Given the description of an element on the screen output the (x, y) to click on. 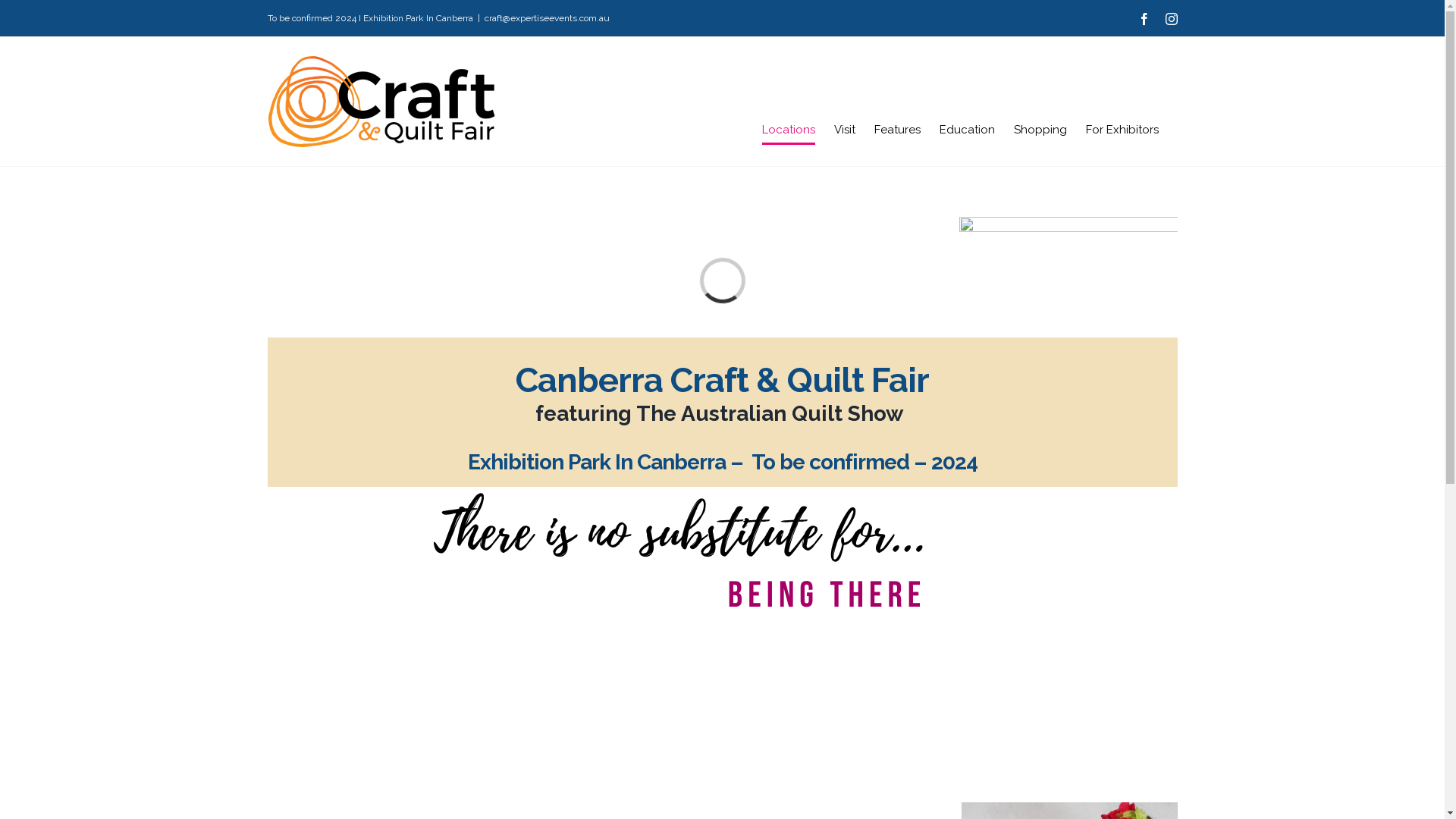
Features Element type: text (896, 129)
craft@expertiseevents.com.au Element type: text (545, 17)
Education Element type: text (966, 129)
Final Blue Swatch button logo Element type: hover (1067, 327)
facebook Element type: text (1143, 18)
There-is-no-substitute-banner Element type: hover (675, 550)
Shopping Element type: text (1039, 129)
instagram Element type: text (1170, 18)
Locations Element type: text (787, 129)
For Exhibitors Element type: text (1121, 129)
Visit Element type: text (844, 129)
